Given the description of an element on the screen output the (x, y) to click on. 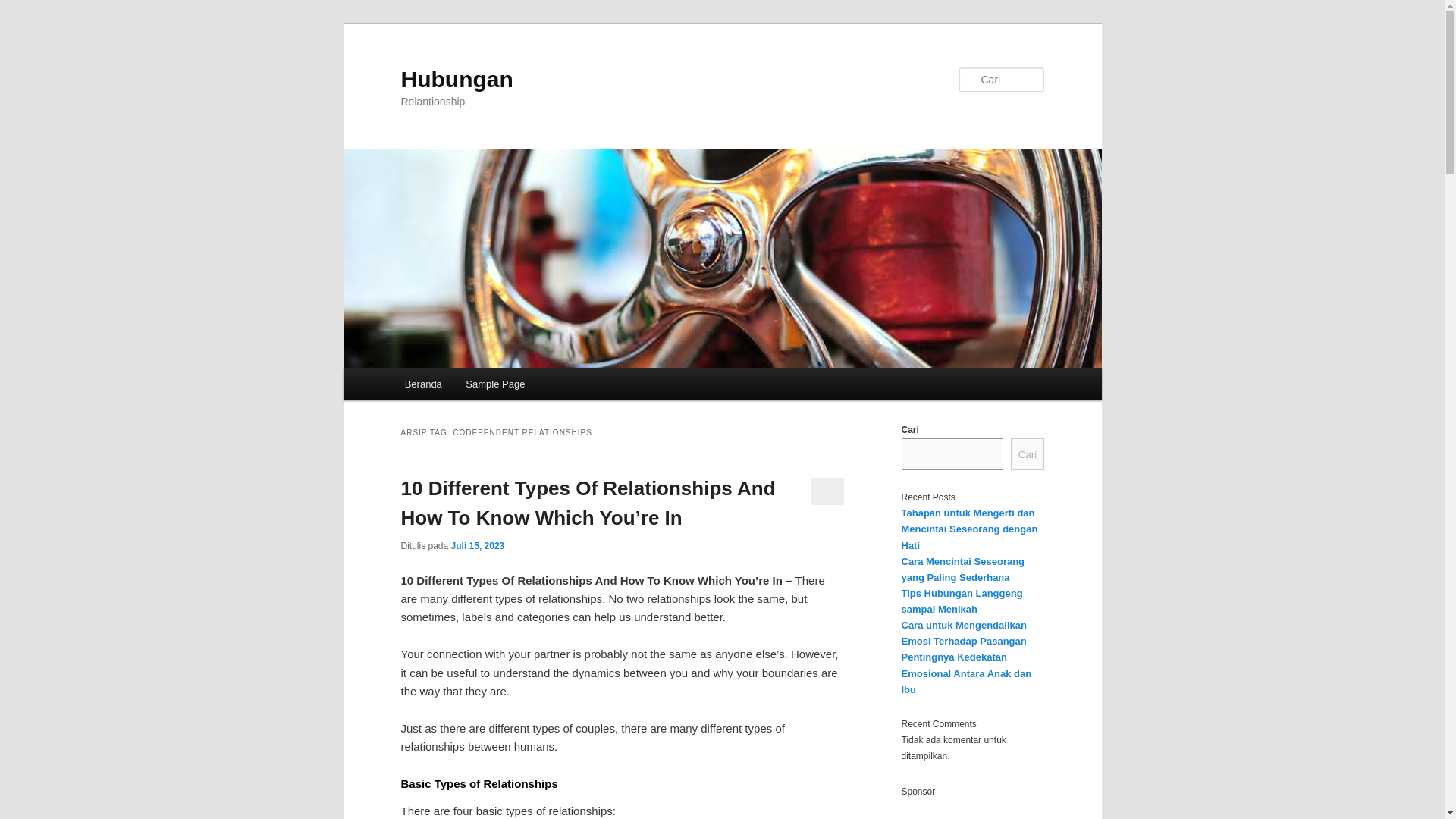
1:56 pm (478, 545)
Sample Page (495, 383)
Cari (1026, 454)
Beranda (423, 383)
Cari (16, 8)
Pentingnya Kedekatan Emosional Antara Anak dan Ibu (965, 672)
Hubungan (456, 78)
Juli 15, 2023 (478, 545)
Tips Hubungan Langgeng sampai Menikah (961, 601)
Cara untuk Mengendalikan Emosi Terhadap Pasangan (963, 633)
